Given the description of an element on the screen output the (x, y) to click on. 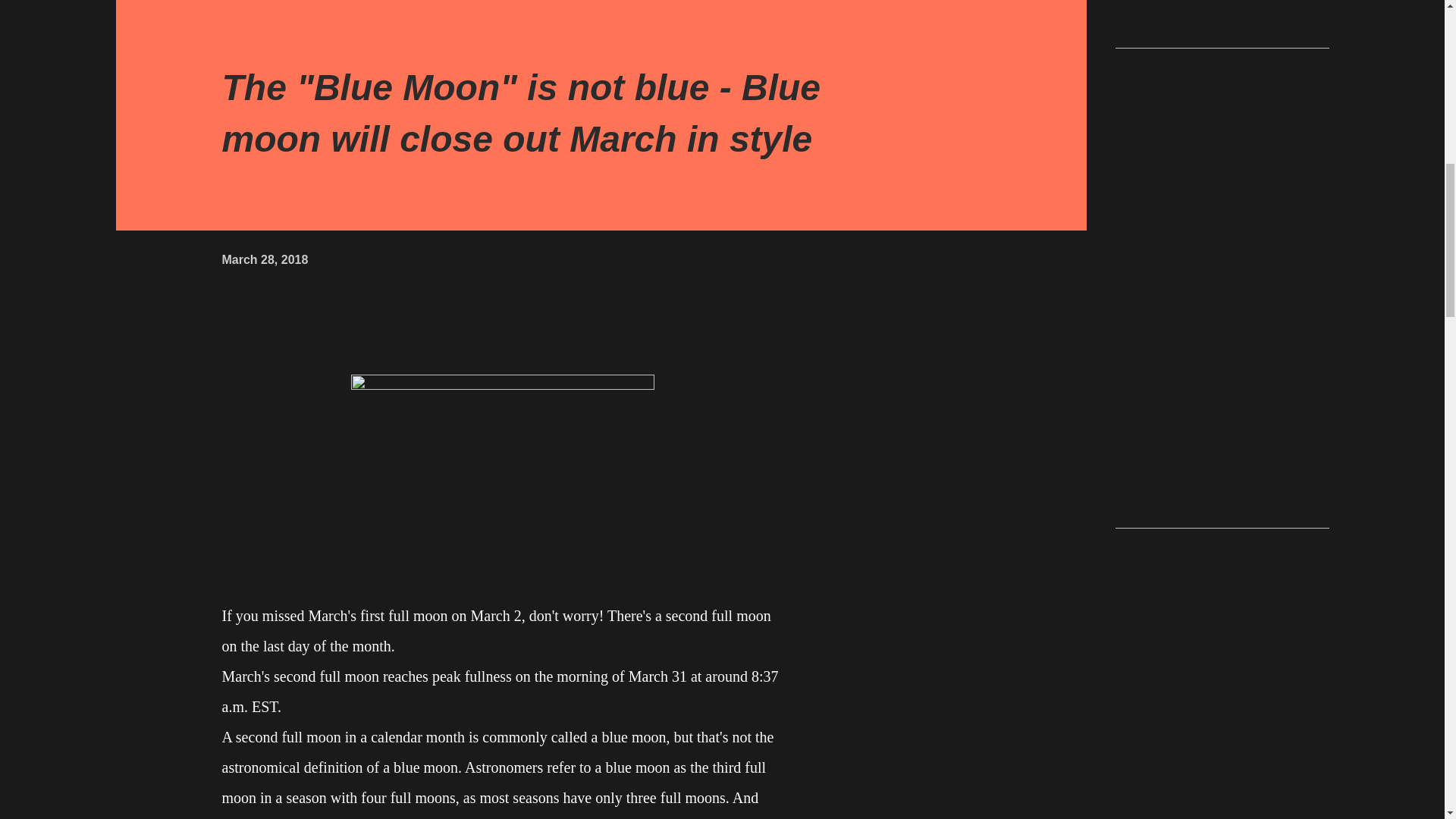
March 28, 2018 (264, 259)
permanent link (264, 259)
